Given the description of an element on the screen output the (x, y) to click on. 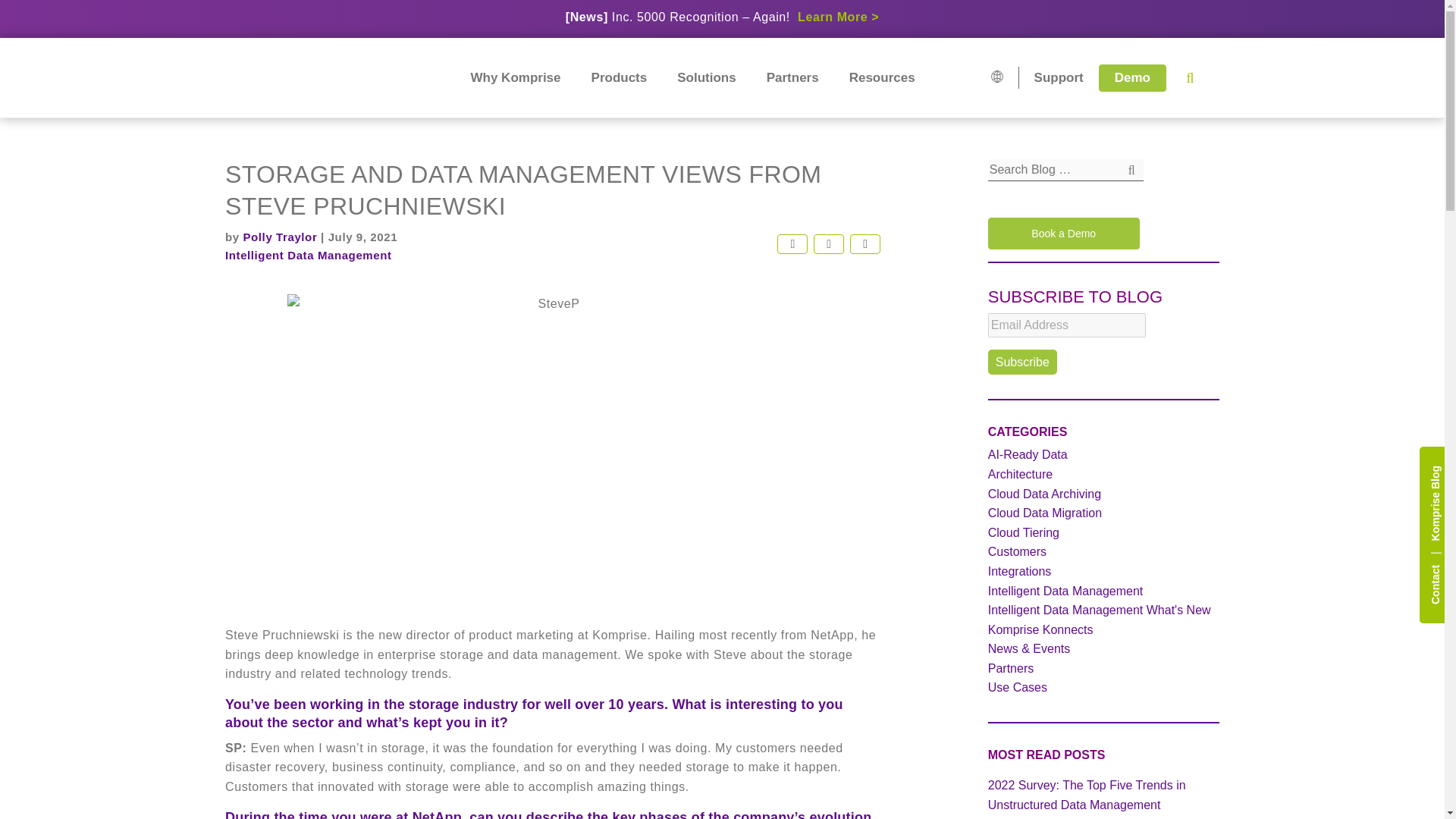
Products (619, 77)
Close (1420, 17)
Search for: (1065, 169)
Komprise (291, 77)
Why Komprise (515, 77)
Solutions (706, 77)
